Given the description of an element on the screen output the (x, y) to click on. 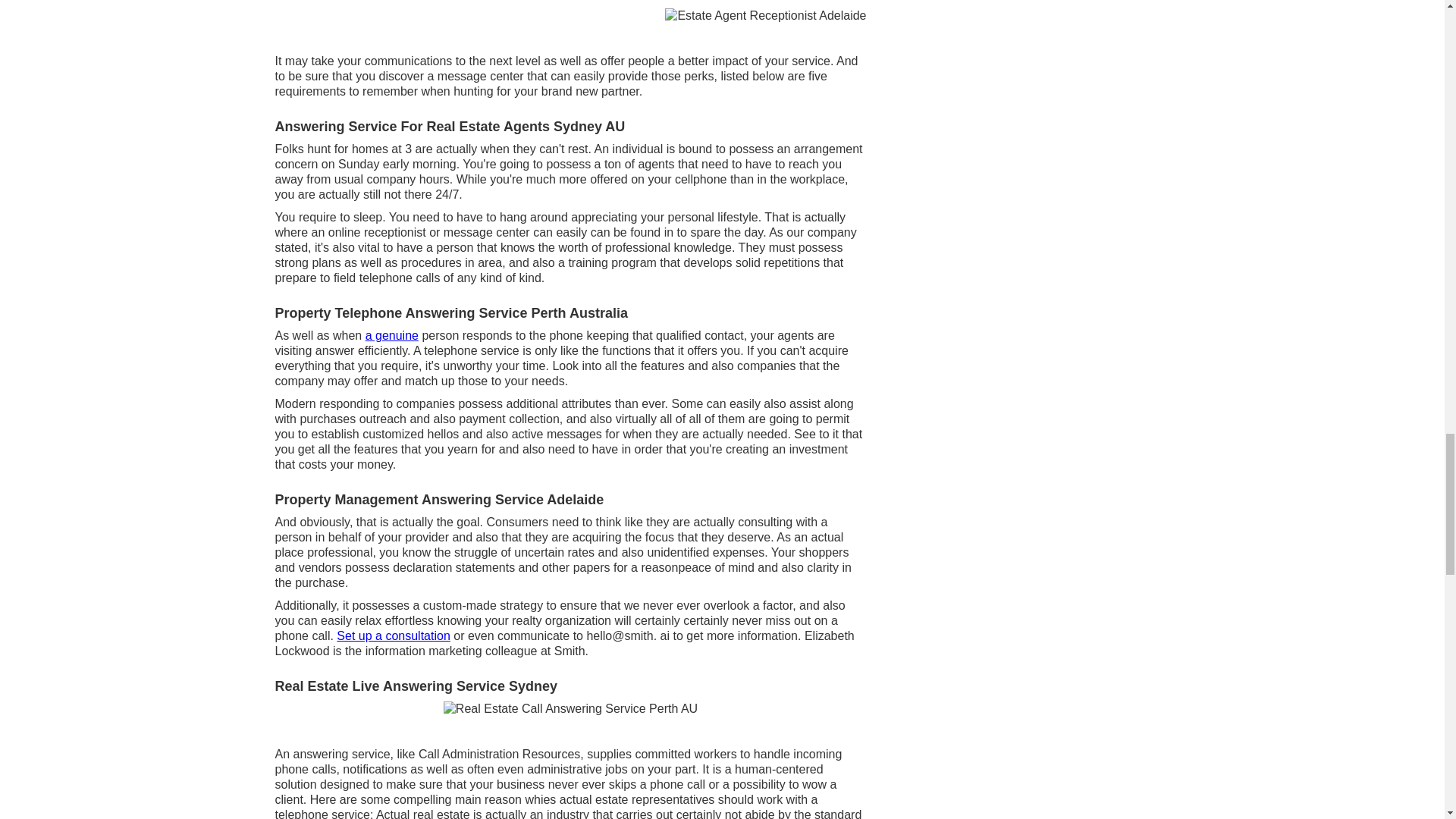
a genuine (392, 335)
Set up a consultation (392, 635)
